Given the description of an element on the screen output the (x, y) to click on. 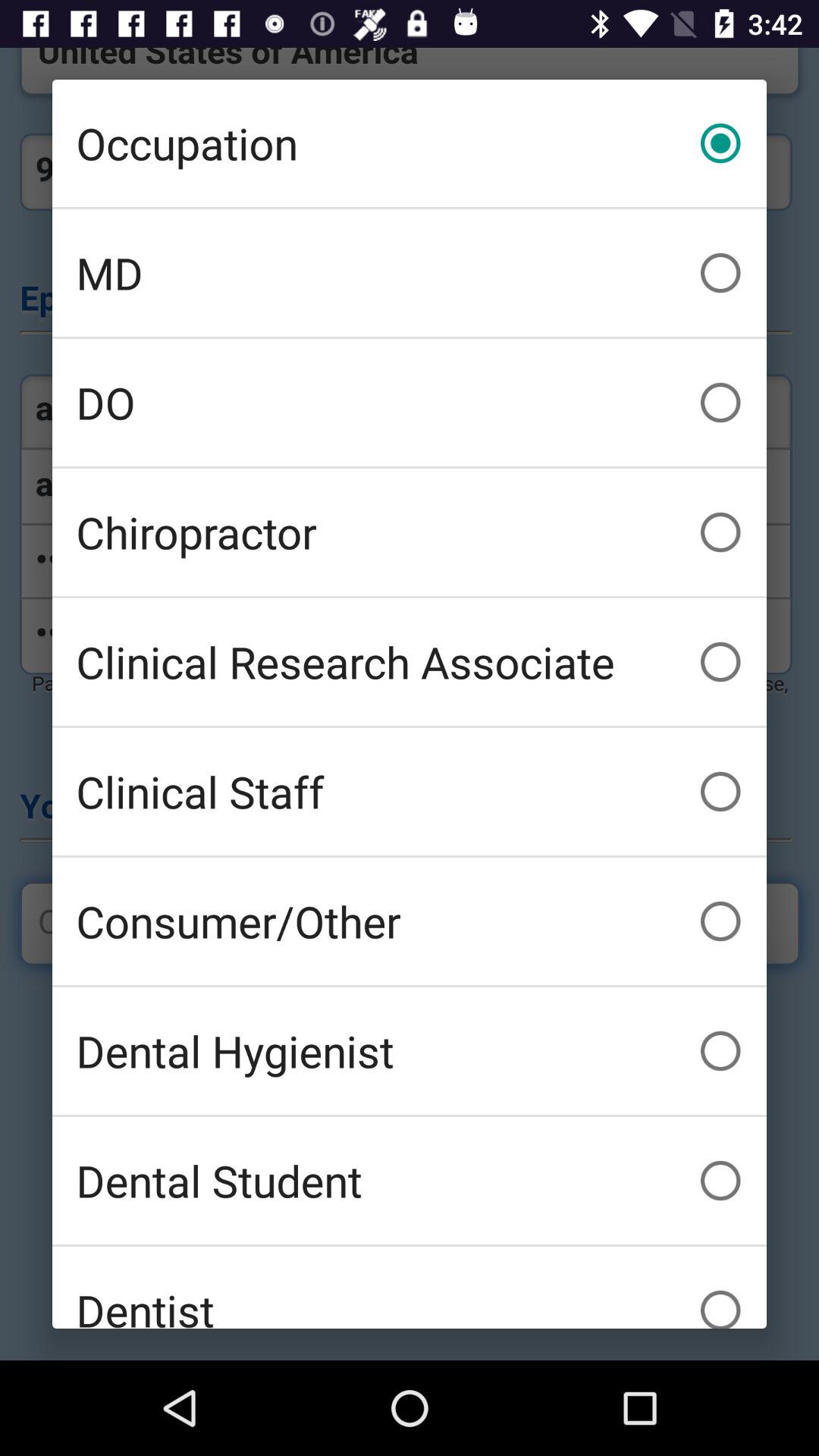
scroll until do icon (409, 402)
